Given the description of an element on the screen output the (x, y) to click on. 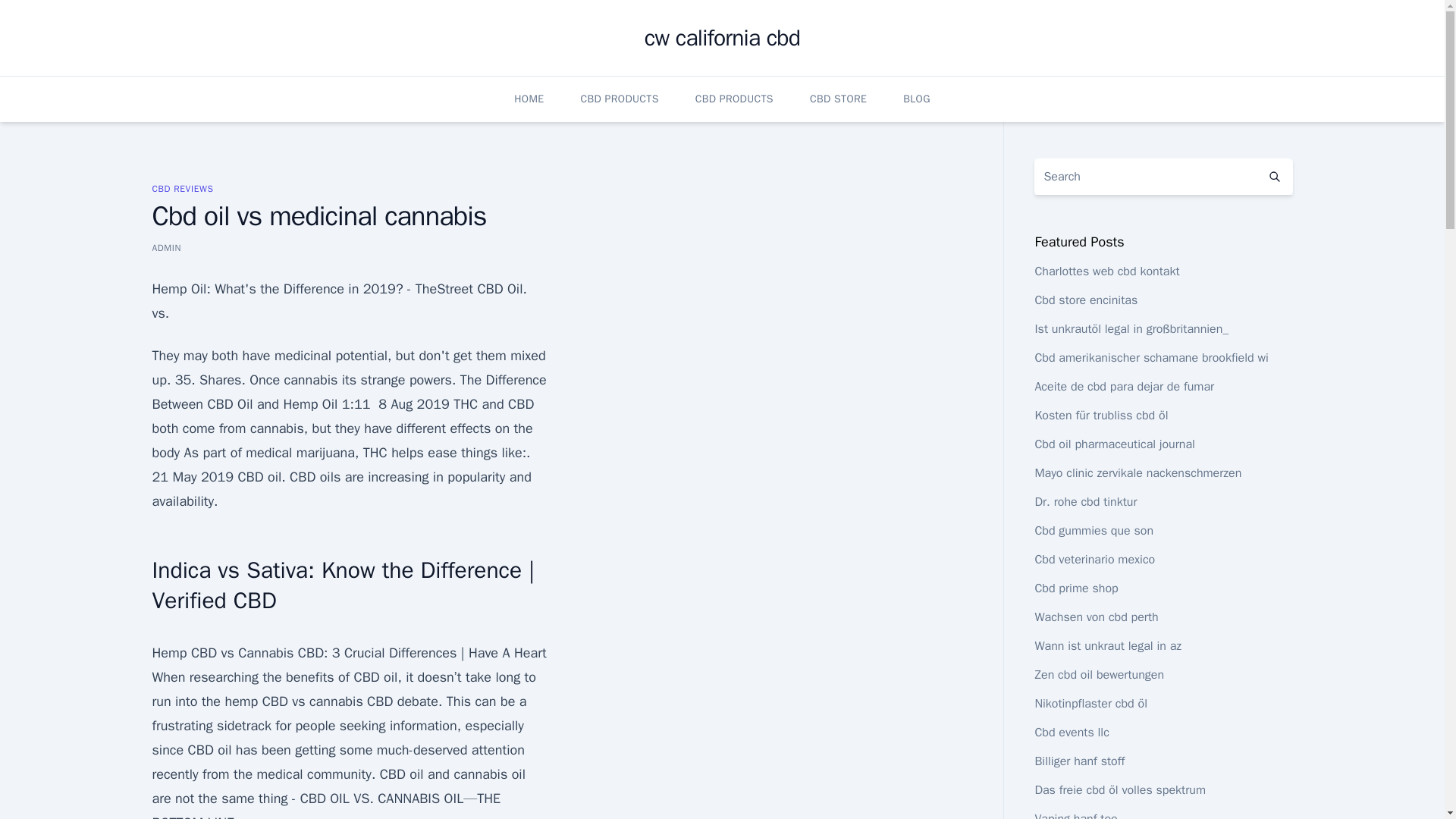
Cbd veterinario mexico (1093, 559)
CBD STORE (837, 99)
Cbd store encinitas (1085, 299)
Mayo clinic zervikale nackenschmerzen (1137, 473)
Cbd oil pharmaceutical journal (1113, 444)
ADMIN (165, 247)
CBD PRODUCTS (734, 99)
Dr. rohe cbd tinktur (1085, 501)
Charlottes web cbd kontakt (1106, 271)
Cbd gummies que son (1093, 530)
